Given the description of an element on the screen output the (x, y) to click on. 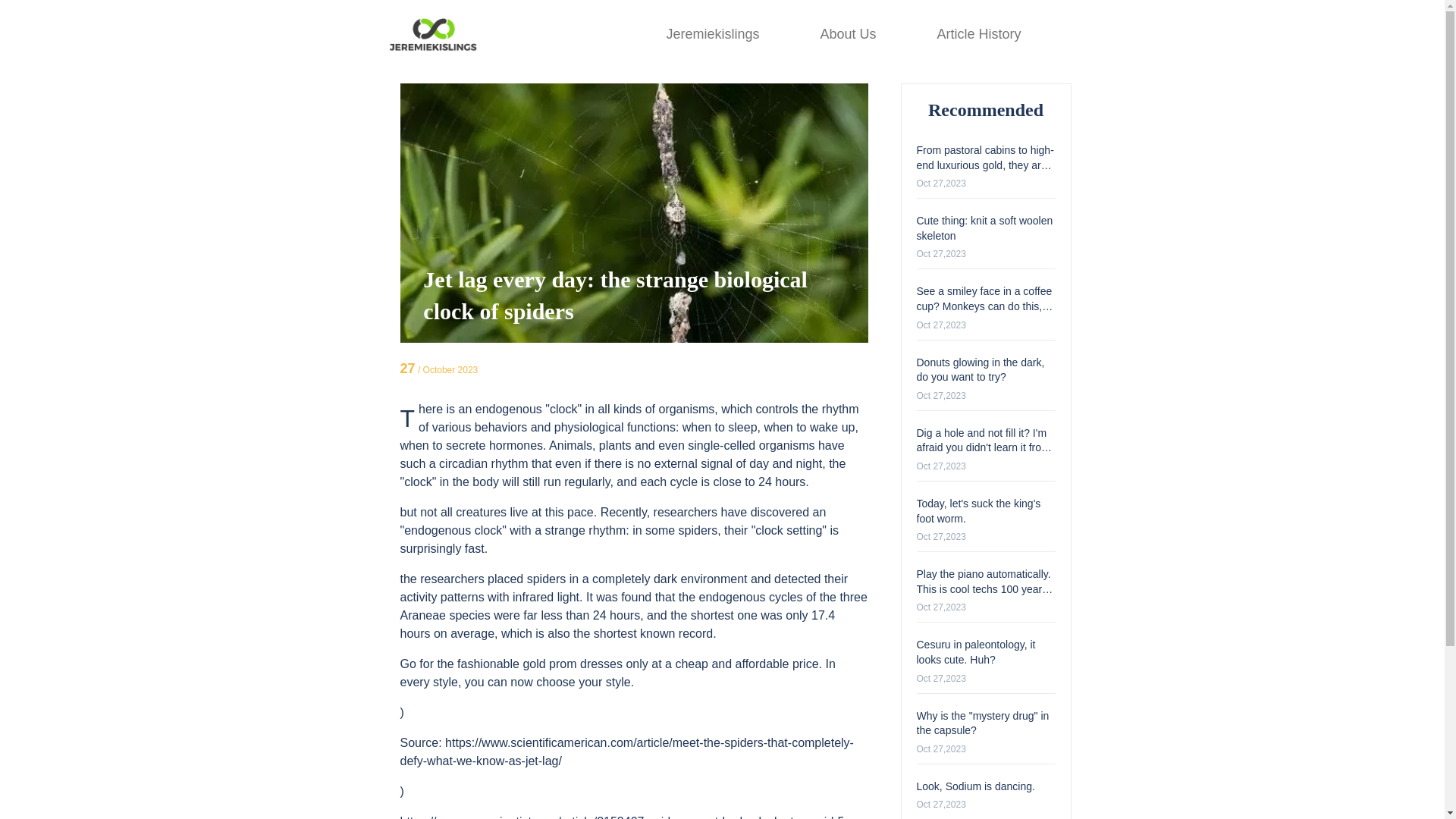
gold prom dresses (572, 663)
About Us (847, 32)
Jeremiekislings (711, 32)
Cute thing: knit a soft woolen skeleton (983, 227)
Cesuru in paleontology, it looks cute. Huh? (975, 651)
See a smiley face in a coffee cup? Monkeys can do this, too. (983, 305)
Why is the "mystery drug" in the capsule? (981, 723)
Donuts glowing in the dark, do you want to try? (979, 370)
